Given the description of an element on the screen output the (x, y) to click on. 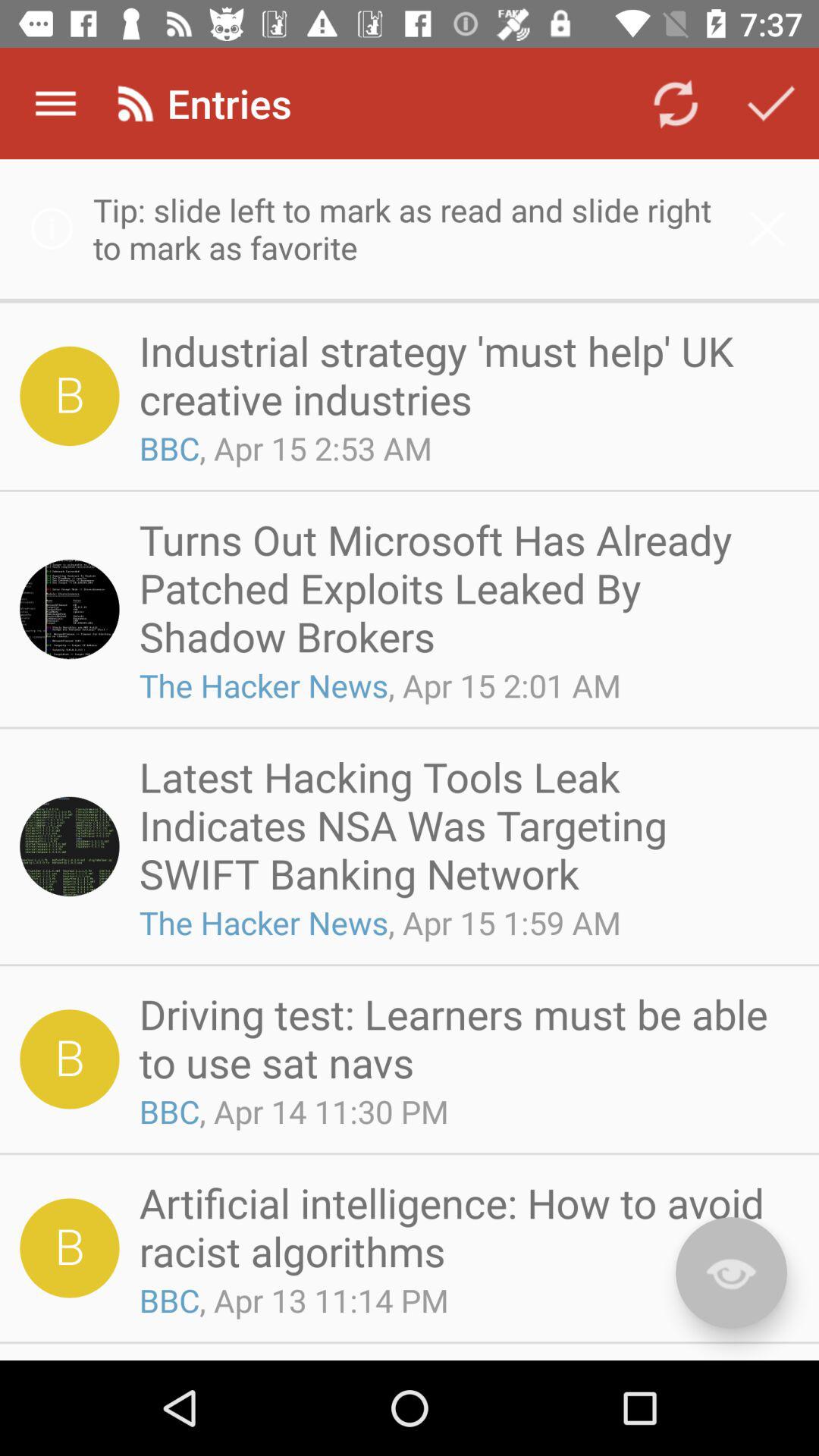
swipe to turns out microsoft (463, 587)
